Given the description of an element on the screen output the (x, y) to click on. 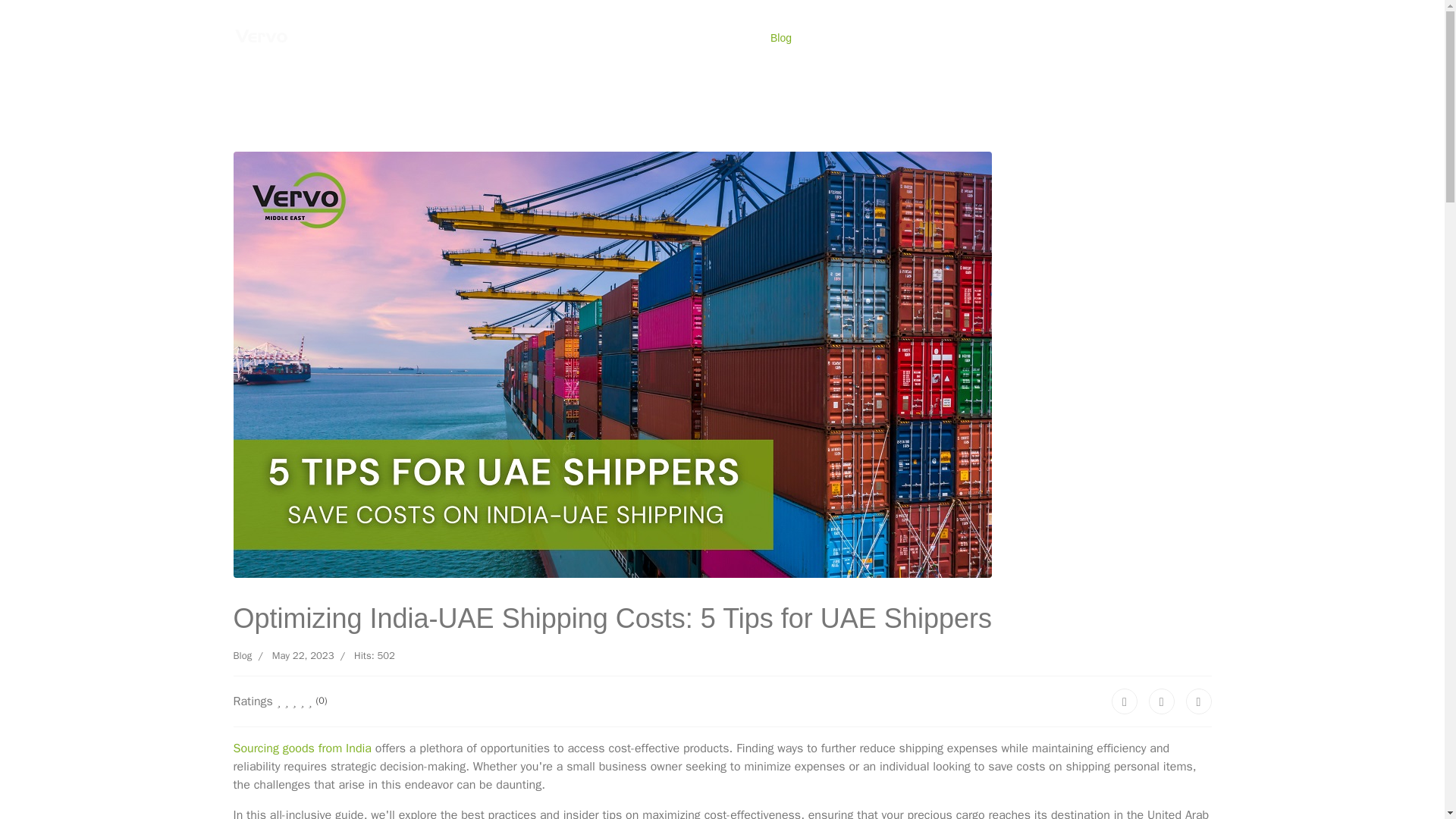
Twitter (1161, 701)
LinkedIn (1198, 701)
Sourcing goods from India (301, 748)
Category: Blog (241, 655)
Published: May 22, 2023 (292, 655)
Facebook (1124, 701)
Industry (723, 38)
Shipping quote (568, 38)
Blog (241, 655)
Services (651, 38)
